Given the description of an element on the screen output the (x, y) to click on. 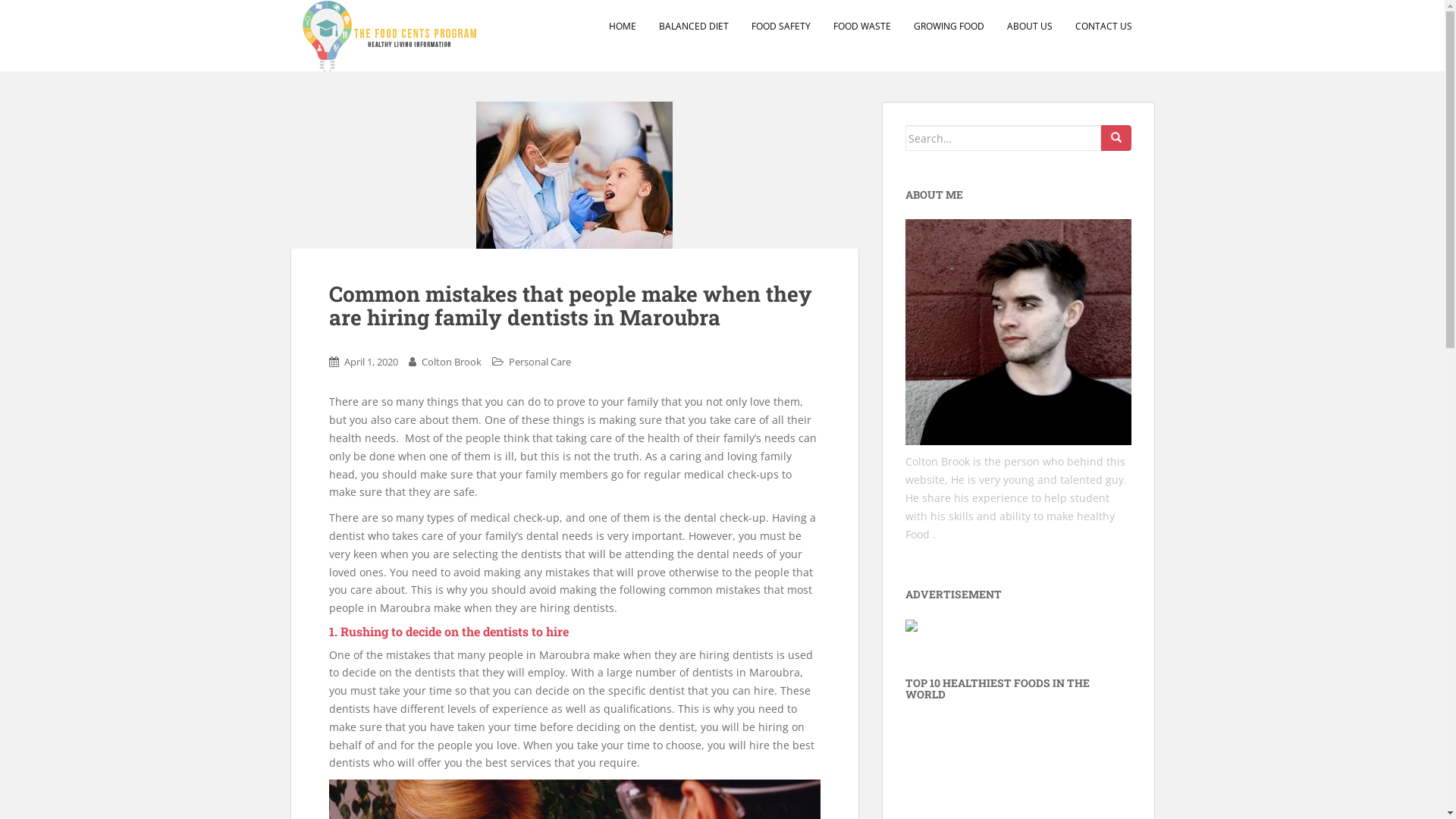
Personal Care Element type: text (539, 361)
April 1, 2020 Element type: text (371, 361)
GROWING FOOD Element type: text (948, 26)
BALANCED DIET Element type: text (693, 26)
ABOUT US Element type: text (1029, 26)
HOME Element type: text (621, 26)
Search for: Element type: hover (1003, 137)
Colton Brook Element type: text (451, 361)
FOOD SAFETY Element type: text (779, 26)
FOOD WASTE Element type: text (861, 26)
CONTACT US Element type: text (1103, 26)
Search Element type: text (1116, 137)
